Given the description of an element on the screen output the (x, y) to click on. 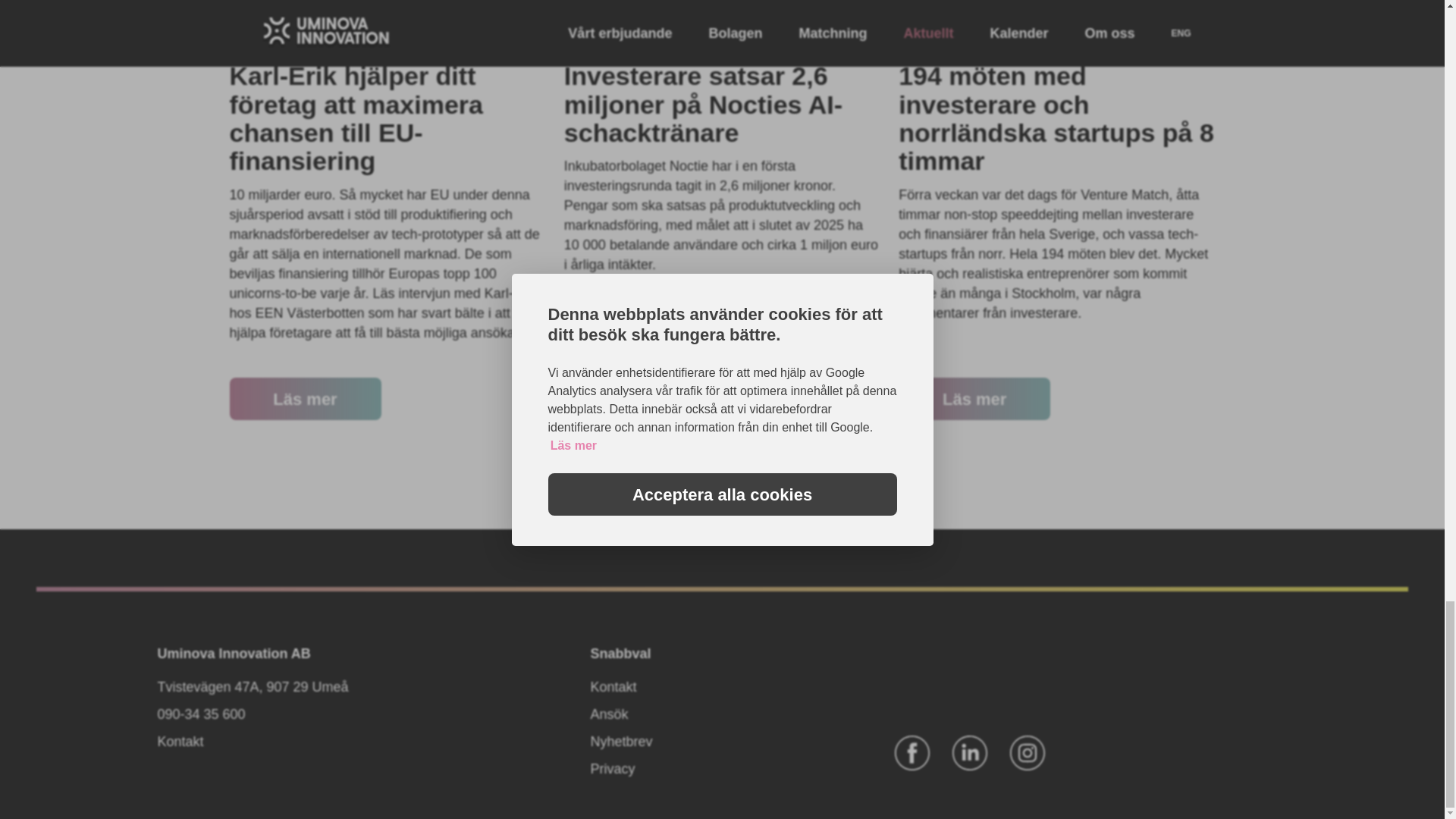
Privacy (612, 768)
Kontakt (180, 741)
Kontakt (614, 686)
Nyhetbrev (621, 741)
